Given the description of an element on the screen output the (x, y) to click on. 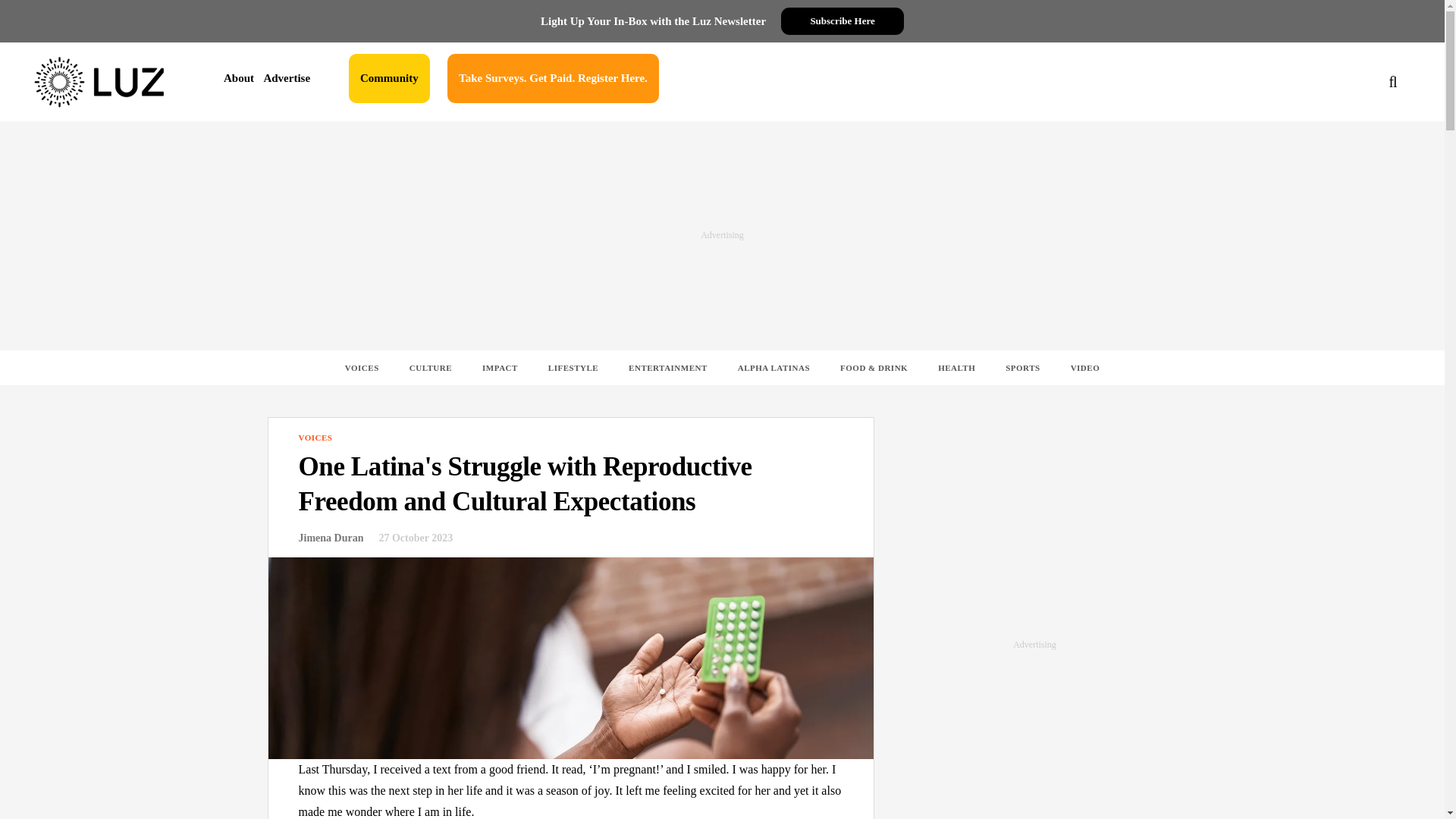
VOICES (362, 367)
Light Up Your In-Box with the Luz Newsletter (652, 21)
SPORTS (1022, 367)
VOICES (315, 437)
VIDEO (1085, 367)
Take Surveys. Get Paid. Register Here. (552, 78)
Jimena Duran (331, 538)
LIFESTYLE (572, 367)
HEALTH (956, 367)
IMPACT (499, 367)
